Given the description of an element on the screen output the (x, y) to click on. 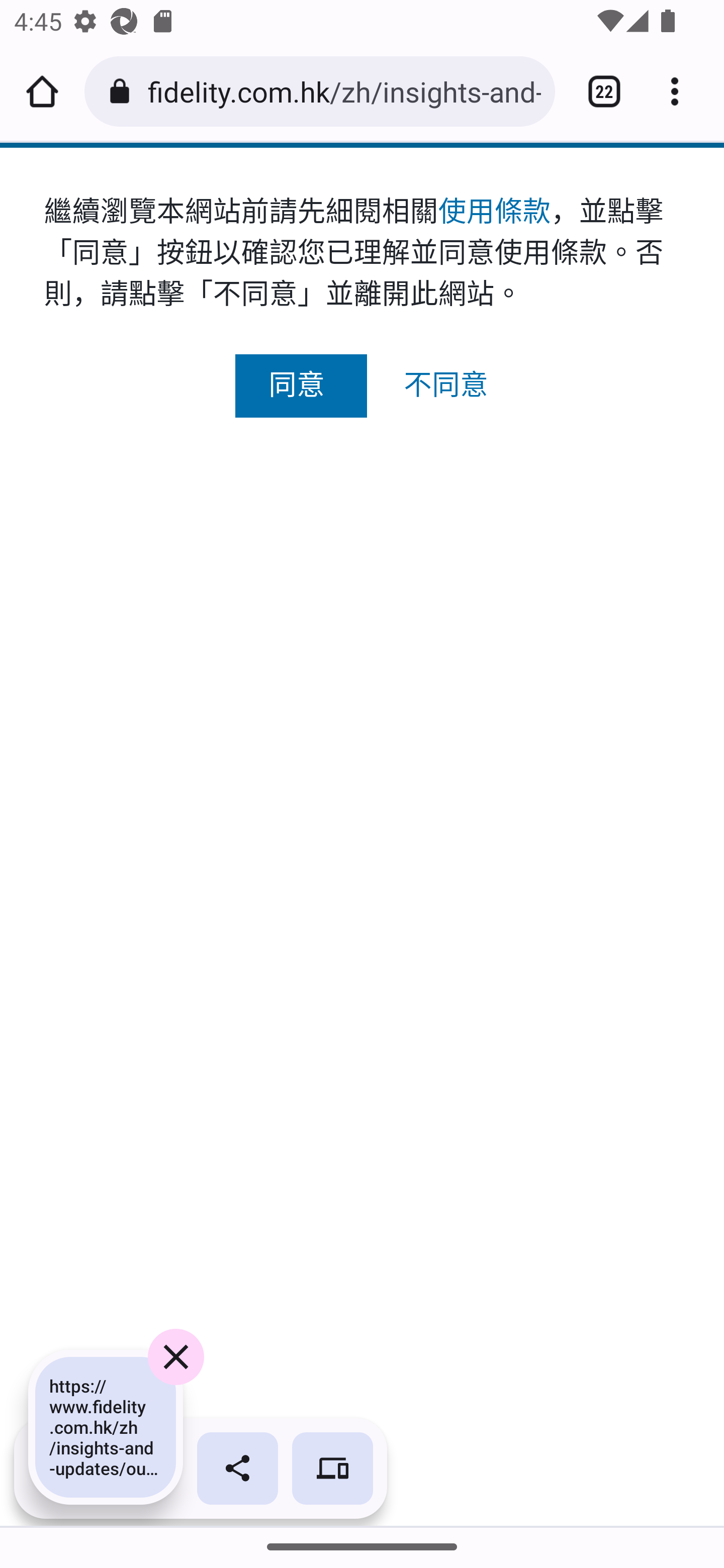
Home (42, 91)
Connection is secure (122, 91)
Switch or close tabs (597, 91)
More options (681, 91)
使用條款 (494, 211)
